Given the description of an element on the screen output the (x, y) to click on. 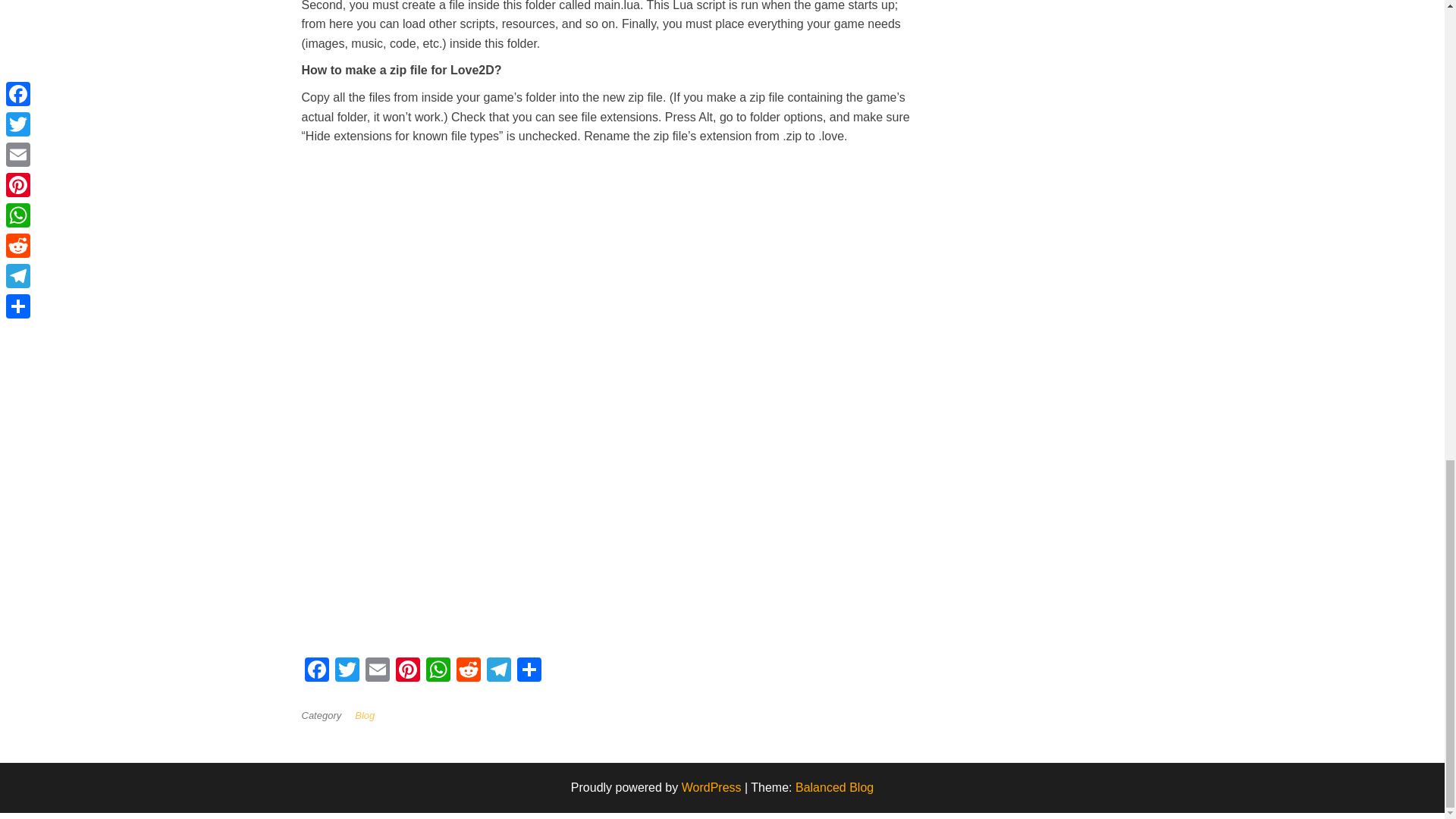
Balanced Blog (833, 787)
Blog (367, 715)
Pinterest (408, 671)
WhatsApp (437, 671)
Telegram (498, 671)
Email (377, 671)
Telegram (498, 671)
Twitter (346, 671)
Reddit (467, 671)
Facebook (316, 671)
